Given the description of an element on the screen output the (x, y) to click on. 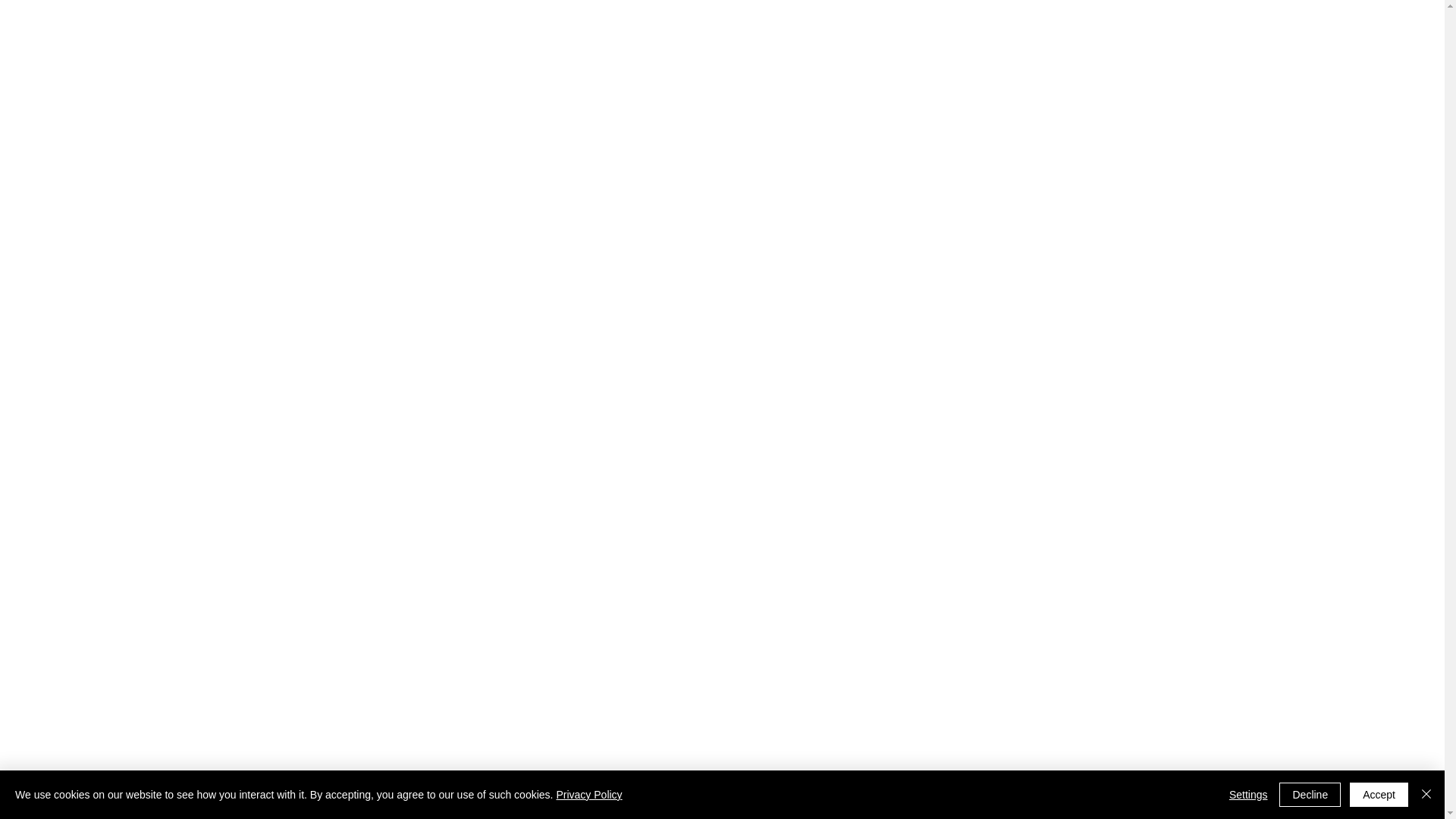
Decline (1309, 794)
Accept (1378, 794)
Privacy Policy (588, 794)
